Given the description of an element on the screen output the (x, y) to click on. 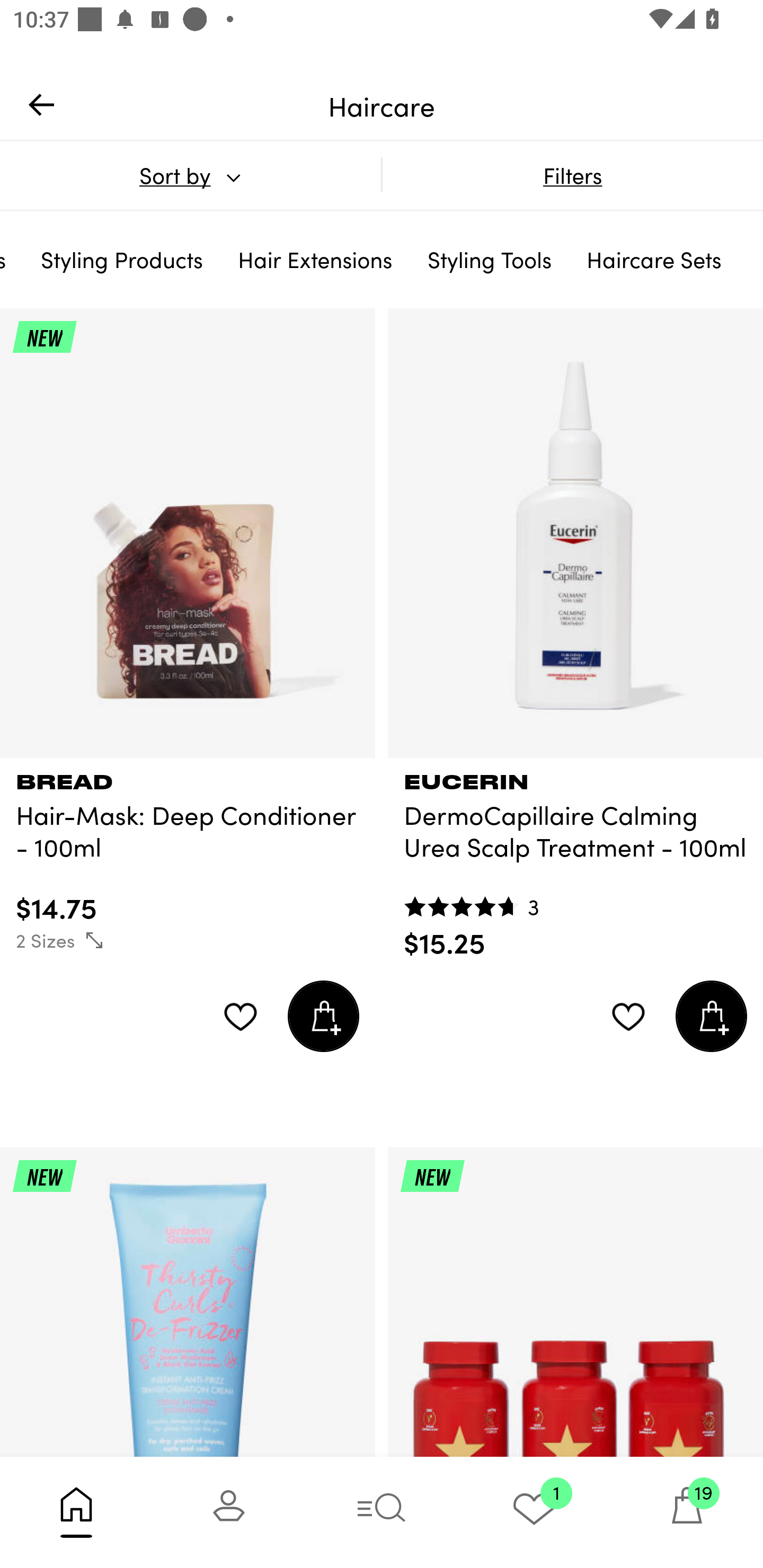
Sort by (190, 174)
Filters (572, 174)
Styling Products (121, 258)
Hair Extensions (314, 258)
Styling Tools (489, 258)
Haircare Sets (654, 258)
1 (533, 1512)
19 (686, 1512)
